Given the description of an element on the screen output the (x, y) to click on. 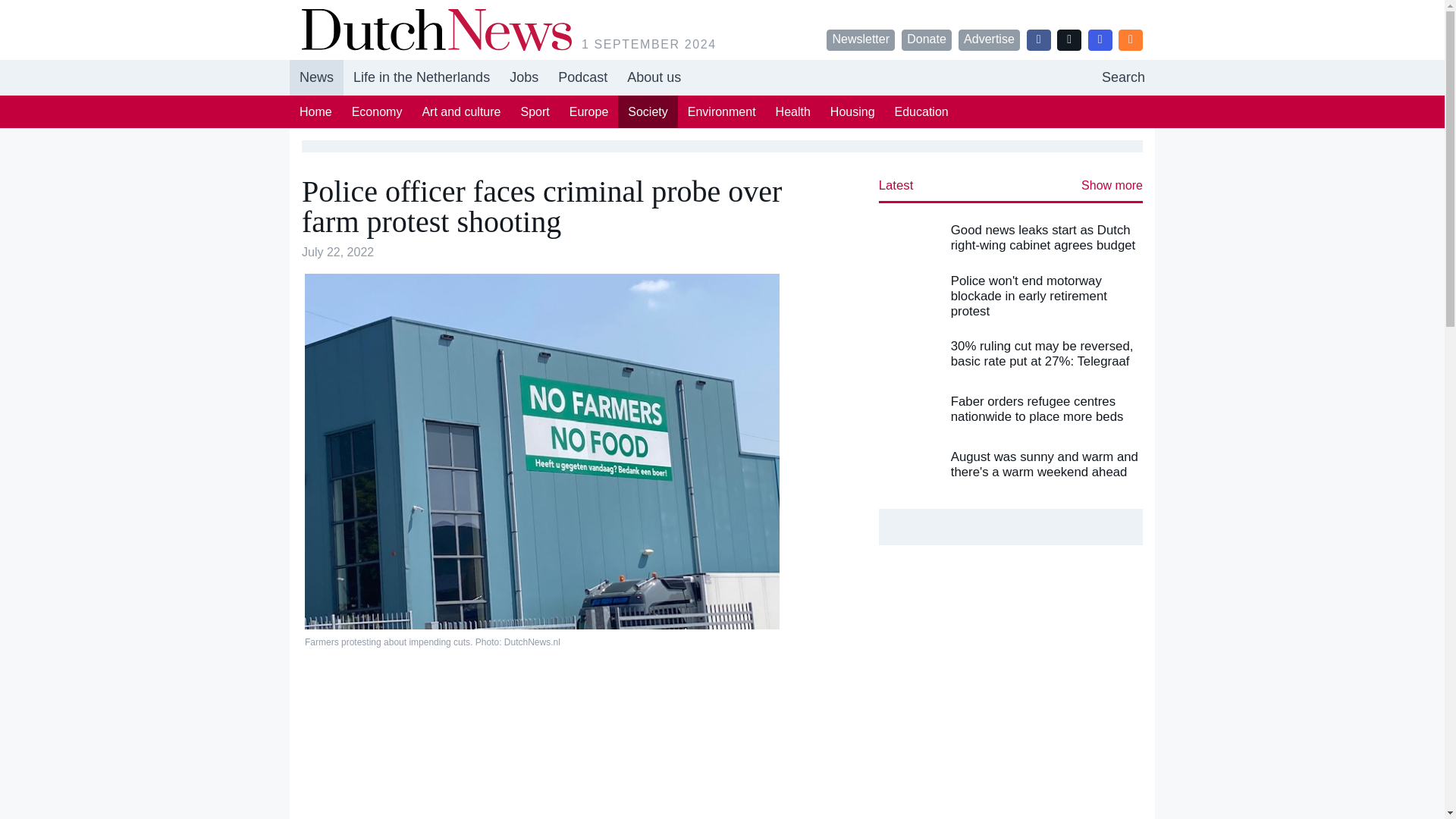
Housing (853, 111)
Podcast (582, 77)
Search (1123, 77)
Newsletter (861, 39)
Society (721, 77)
Jobs (647, 111)
About us (523, 77)
Education (653, 77)
Sport (921, 111)
